Given the description of an element on the screen output the (x, y) to click on. 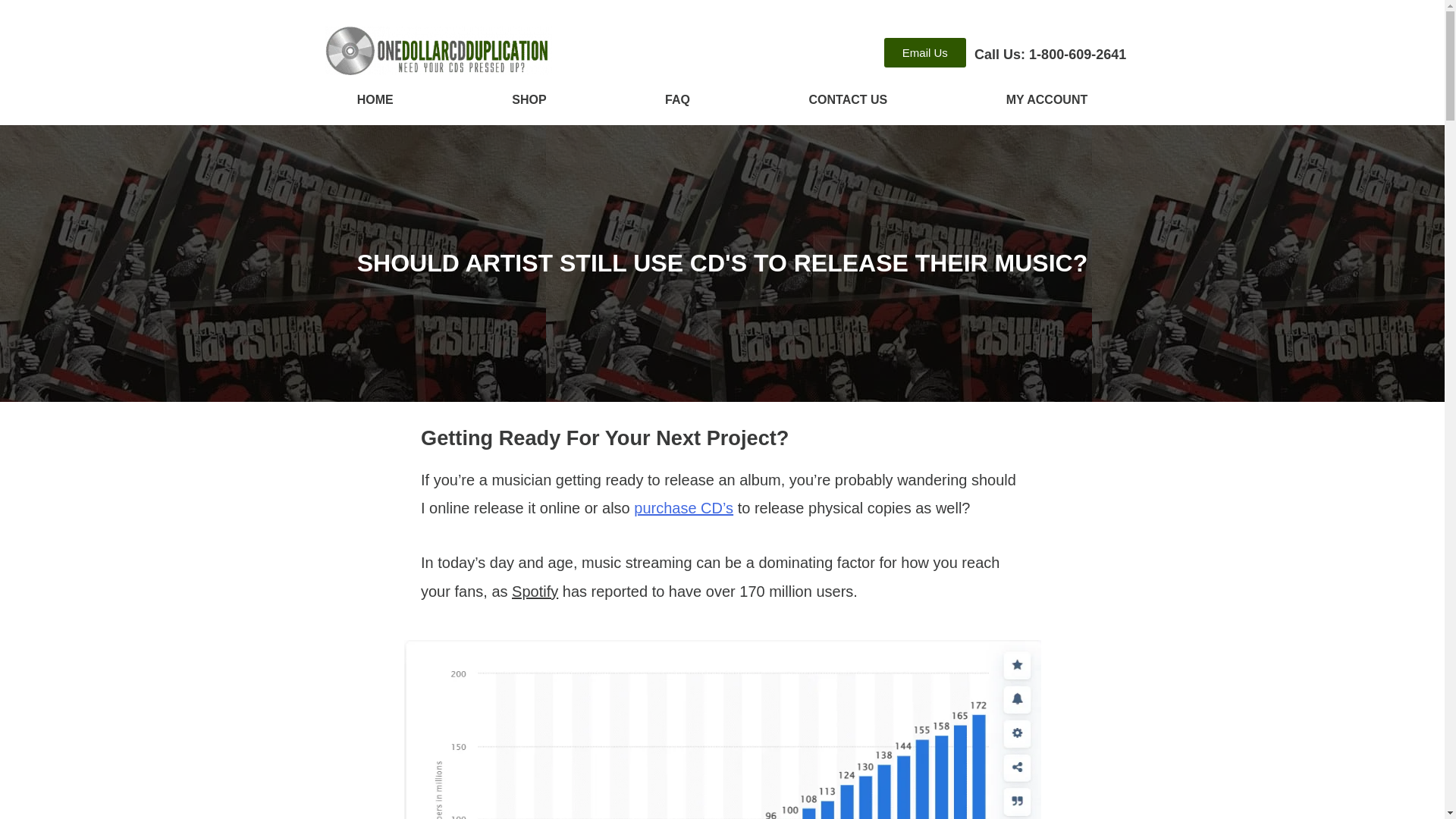
MY ACCOUNT (1046, 99)
FAQ (677, 99)
Email Us (924, 52)
SHOP (528, 99)
HOME (374, 99)
CONTACT US (847, 99)
